Given the description of an element on the screen output the (x, y) to click on. 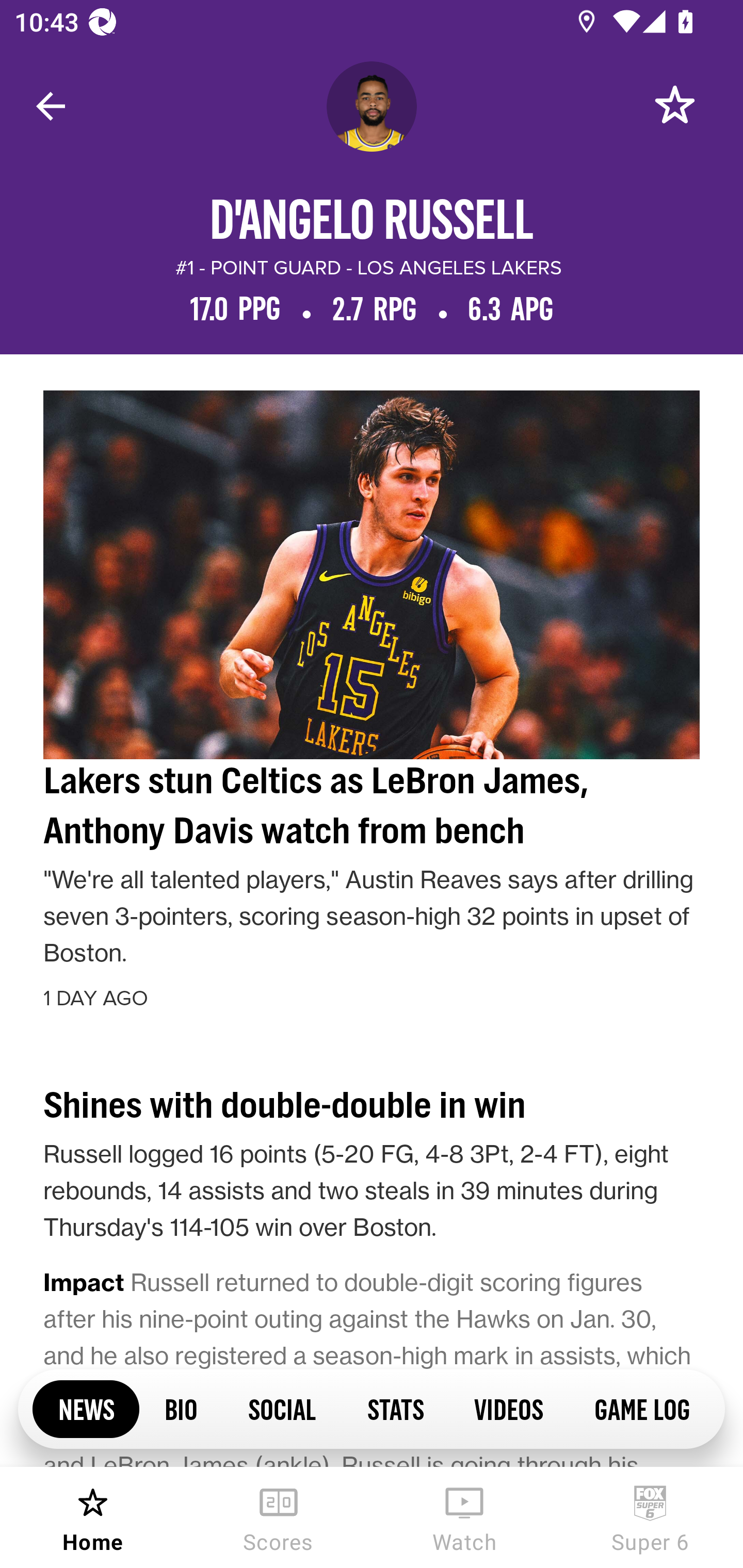
Navigate up (50, 106)
#1 - POINT GUARD - LOS ANGELES LAKERS (368, 267)
BIO (180, 1408)
SOCIAL (281, 1408)
STATS (394, 1408)
VIDEOS (508, 1408)
GAME LOG (641, 1408)
Scores (278, 1517)
Watch (464, 1517)
Super 6 (650, 1517)
